Given the description of an element on the screen output the (x, y) to click on. 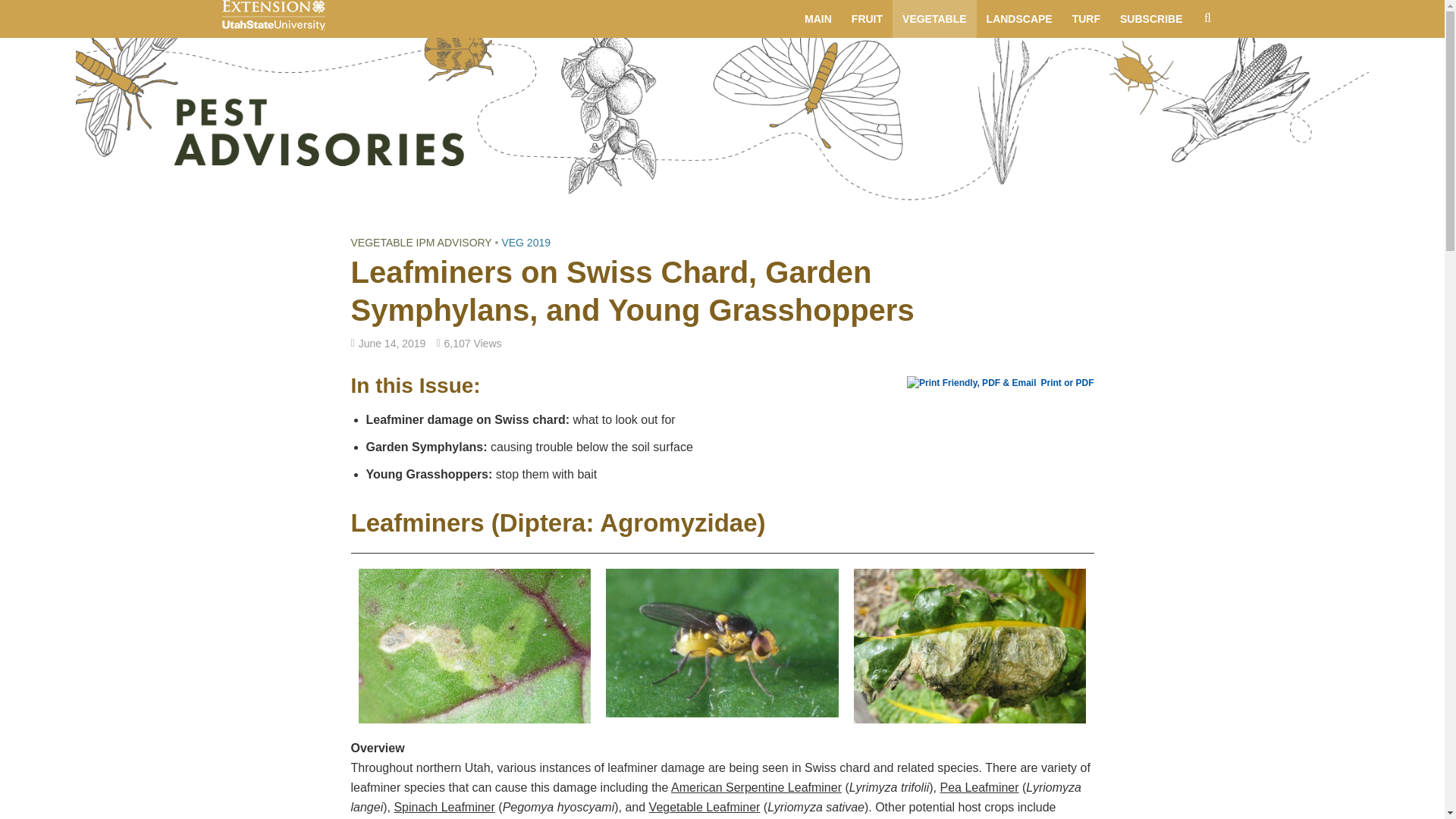
LANDSCAPE (1019, 18)
VEG 2019 (525, 244)
MAIN (817, 18)
Print or PDF (1000, 382)
VEGETABLE (934, 18)
SUBSCRIBE (1150, 18)
TURF (1085, 18)
FRUIT (866, 18)
VEGETABLE IPM ADVISORY (421, 244)
